Given the description of an element on the screen output the (x, y) to click on. 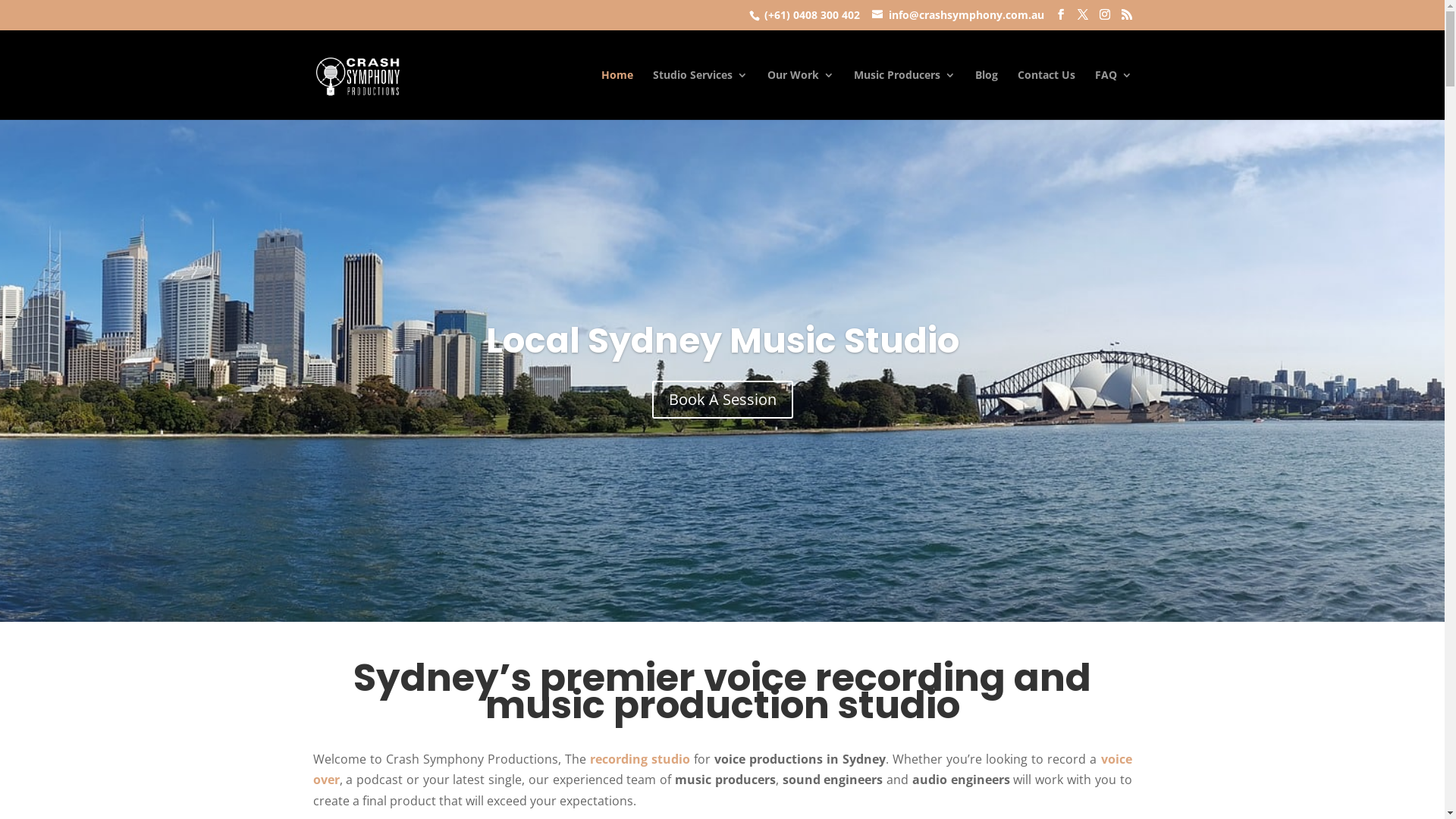
Home Element type: text (616, 94)
Our Work Element type: text (800, 94)
Local Sydney Music Studio Element type: text (721, 340)
Contact Us Element type: text (1046, 94)
Blog Element type: text (986, 94)
Music Producers Element type: text (904, 94)
voice over Element type: text (721, 768)
Studio Services Element type: text (699, 94)
(+61) 0408 300 402 Element type: text (811, 14)
recording studio Element type: text (639, 758)
Book A Session Element type: text (722, 399)
FAQ Element type: text (1113, 94)
info@crashsymphony.com.au Element type: text (958, 15)
